Given the description of an element on the screen output the (x, y) to click on. 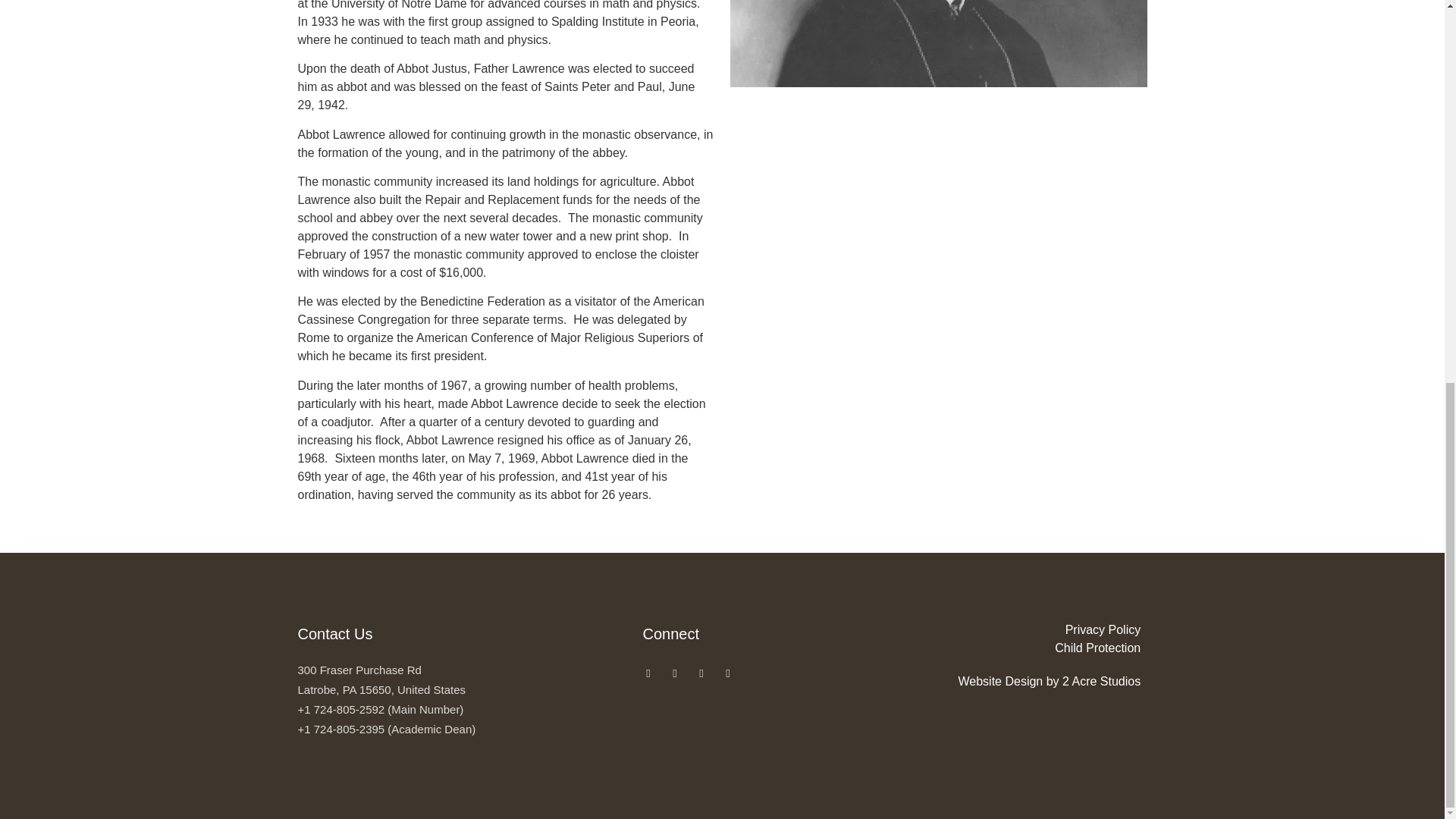
Privacy Policy (1037, 629)
Child Protection (1037, 648)
Website Design by 2 Acre Studios (1037, 681)
